Given the description of an element on the screen output the (x, y) to click on. 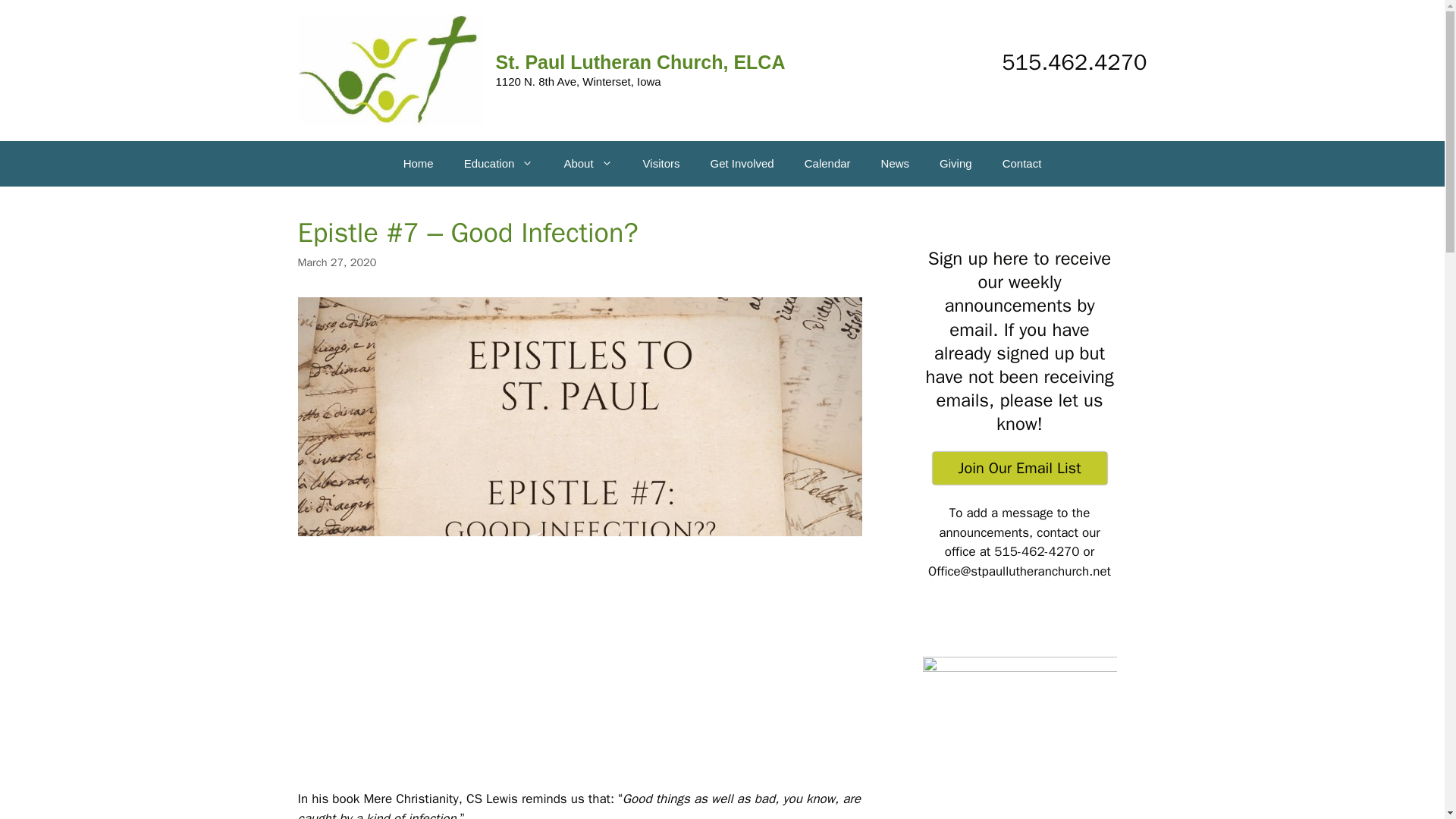
Home (418, 163)
Giving (955, 163)
Automatic Giving (955, 163)
News (895, 163)
Get Involved (741, 163)
Contact (1022, 163)
St. Paul Lutheran Church, ELCA (641, 61)
About (587, 163)
Join Our Email List (1019, 468)
Visitors (661, 163)
